Given the description of an element on the screen output the (x, y) to click on. 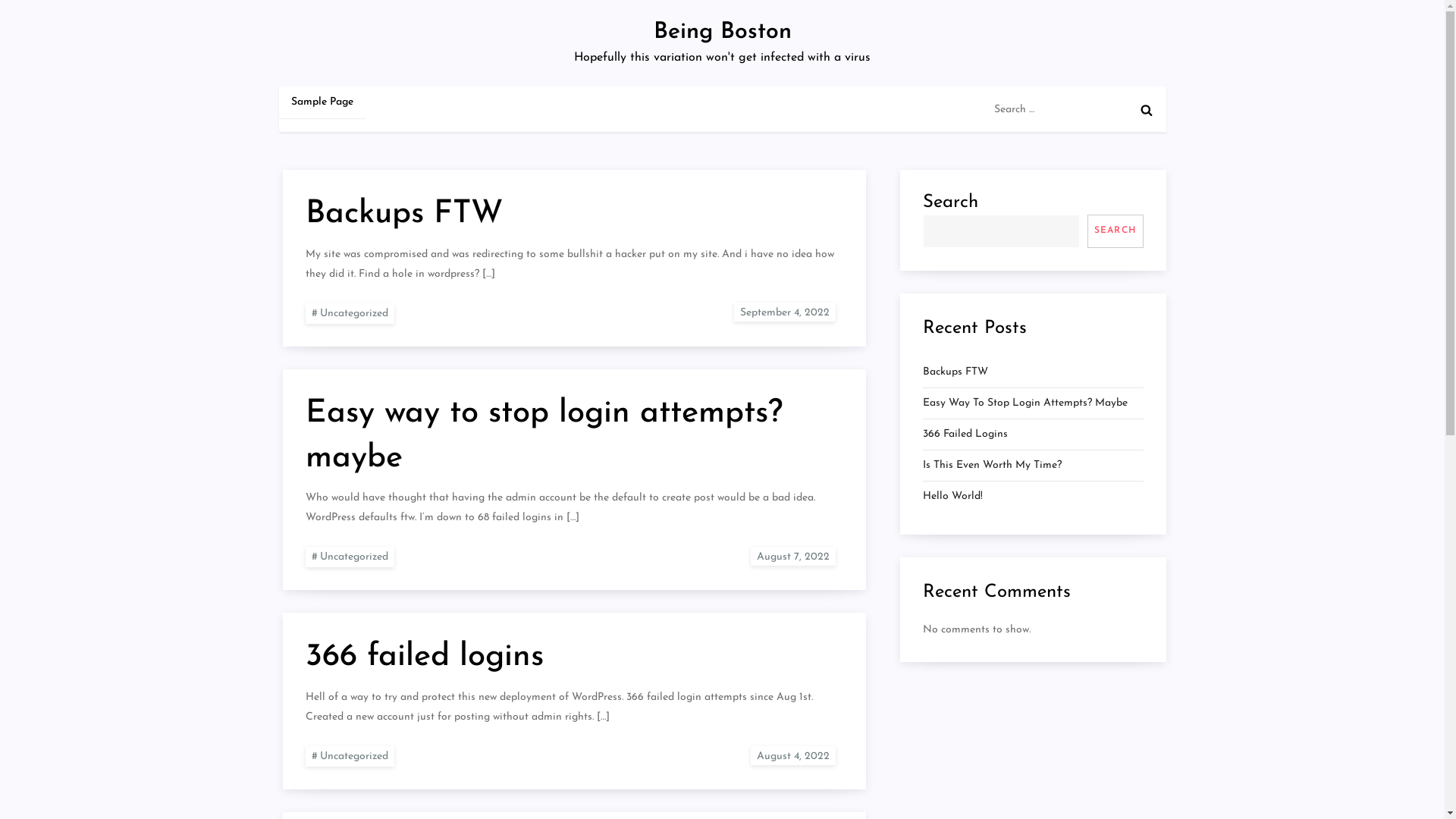
Is This Even Worth My Time? Element type: text (991, 465)
366 failed logins Element type: text (423, 656)
Easy way to stop login attempts? maybe Element type: text (542, 435)
Hello World! Element type: text (952, 496)
Uncategorized Element type: text (348, 313)
Backups FTW Element type: text (954, 372)
Being Boston Element type: text (722, 31)
Backups FTW Element type: text (403, 213)
366 Failed Logins Element type: text (964, 434)
September 4, 2022 Element type: text (784, 311)
Search Element type: text (1146, 109)
Sample Page Element type: text (322, 102)
Uncategorized Element type: text (348, 556)
SEARCH Element type: text (1114, 230)
August 4, 2022 Element type: text (792, 755)
August 7, 2022 Element type: text (792, 555)
Easy Way To Stop Login Attempts? Maybe Element type: text (1024, 403)
Uncategorized Element type: text (348, 756)
